Given the description of an element on the screen output the (x, y) to click on. 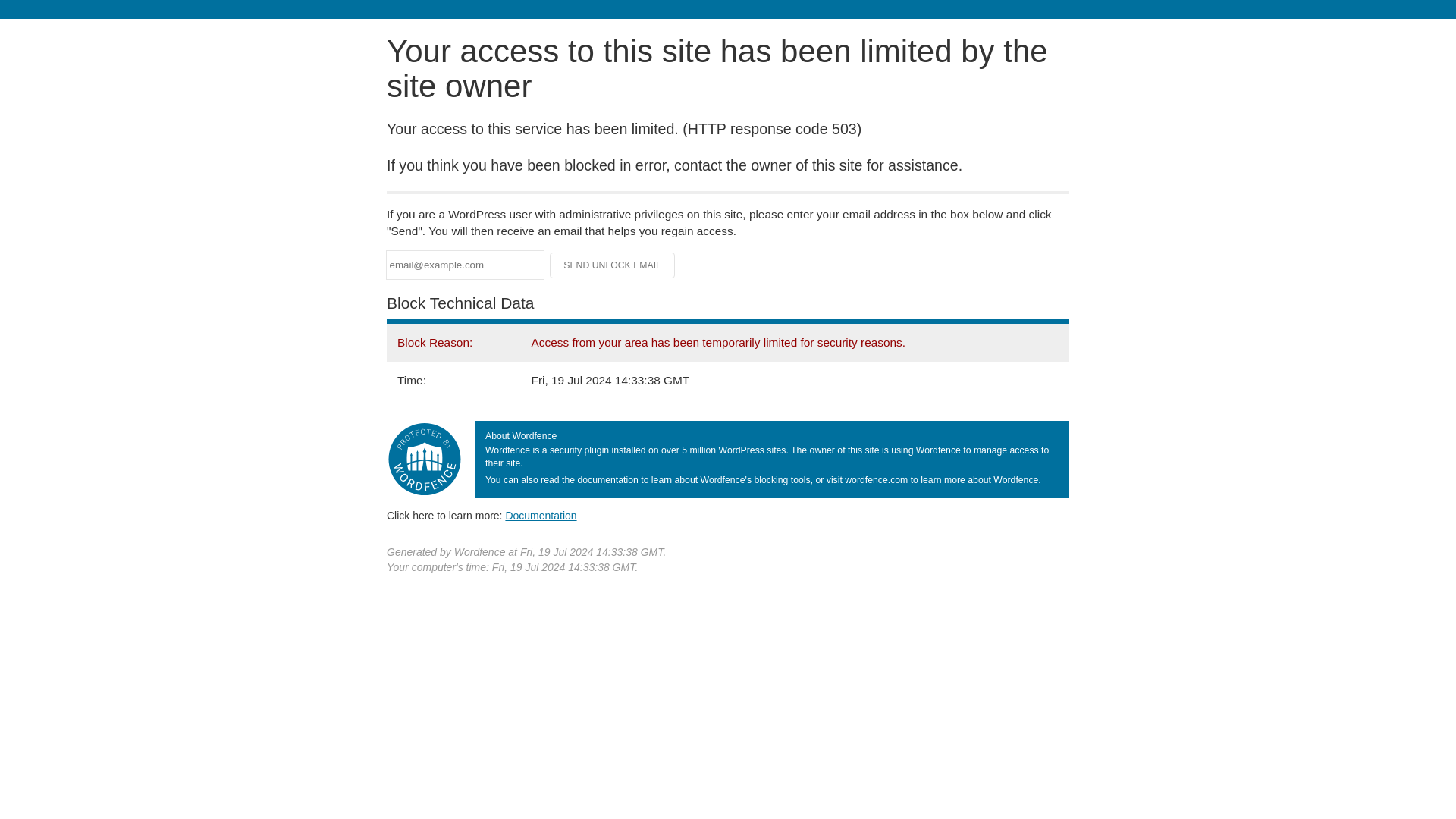
Documentation (540, 515)
Send Unlock Email (612, 265)
Send Unlock Email (612, 265)
